Given the description of an element on the screen output the (x, y) to click on. 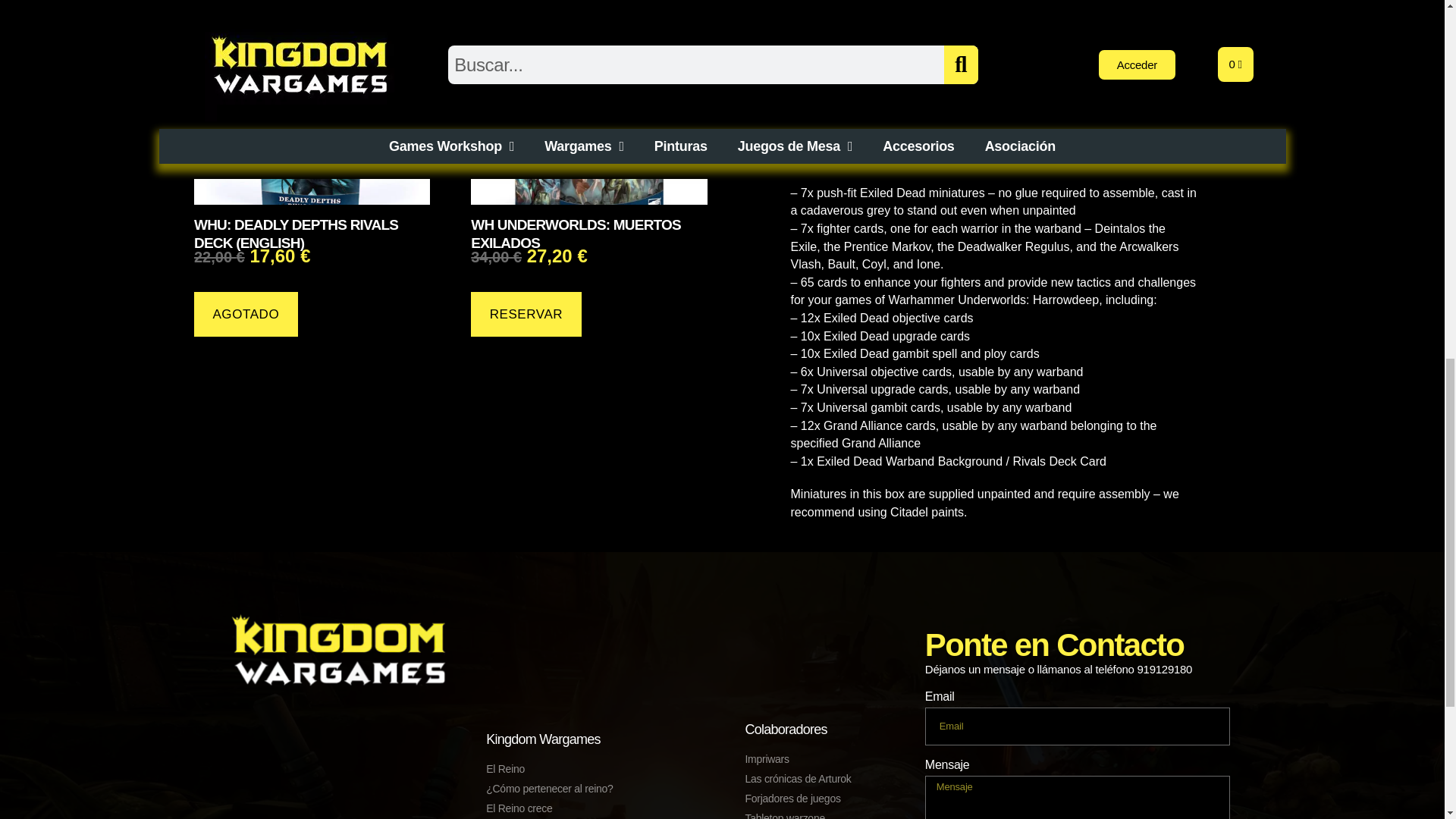
calle arroto de la elipa 12 madrid (339, 762)
